Given the description of an element on the screen output the (x, y) to click on. 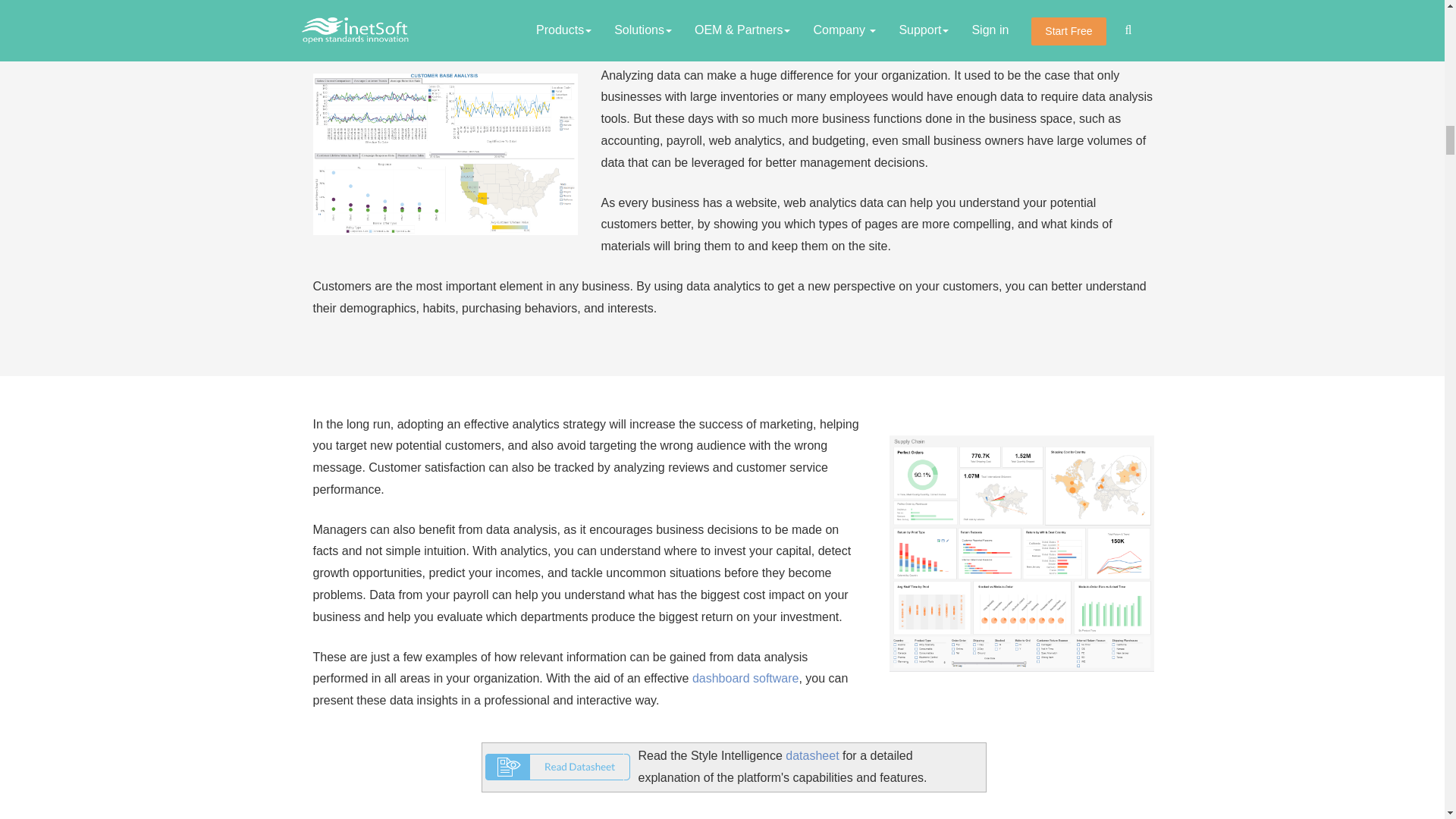
Read the datasheet (812, 755)
Read the datasheet (556, 766)
